Given the description of an element on the screen output the (x, y) to click on. 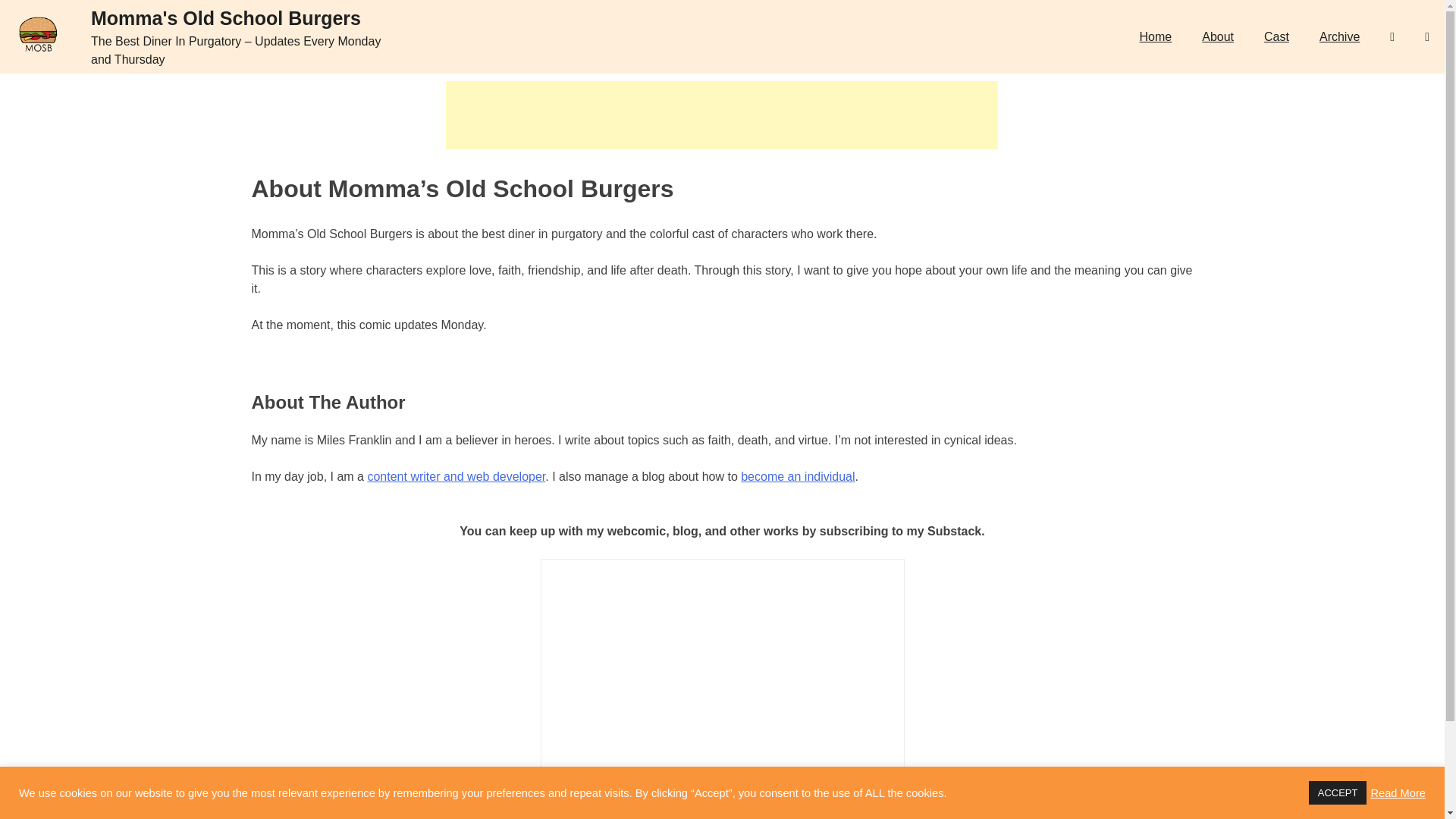
Read More (1397, 792)
become an individual (797, 476)
Momma's Old School Burgers (225, 17)
content writer and web developer (455, 476)
Cast (1275, 36)
Home (1156, 36)
About (1217, 36)
Archive (1339, 36)
ACCEPT (1337, 792)
Advertisement (721, 115)
